Given the description of an element on the screen output the (x, y) to click on. 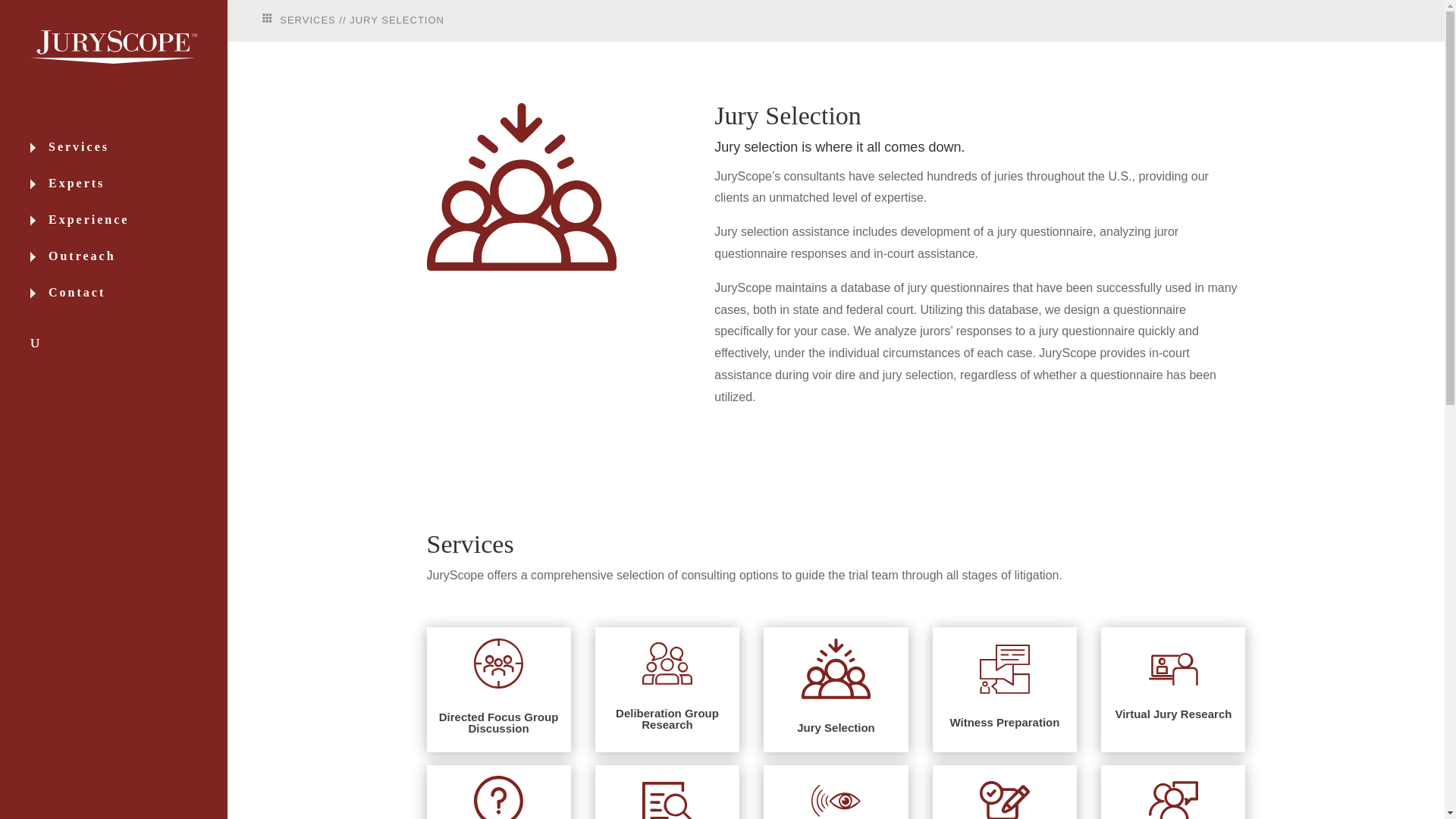
Experience (128, 232)
Outreach (128, 268)
Experts (128, 196)
Contact (128, 305)
Services (128, 159)
  SERVICES (299, 19)
